Given the description of an element on the screen output the (x, y) to click on. 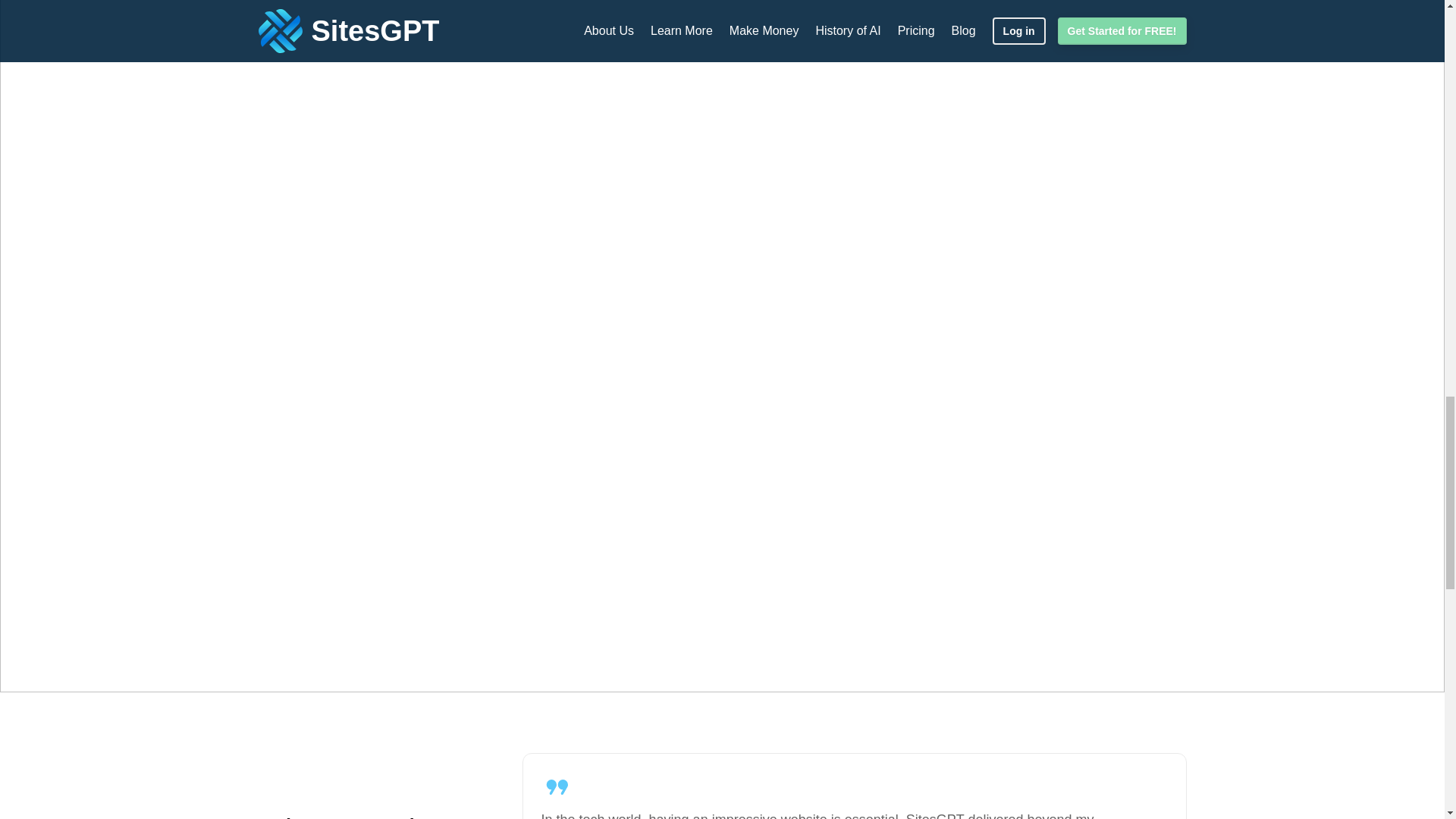
artificial intelligence (561, 291)
